Given the description of an element on the screen output the (x, y) to click on. 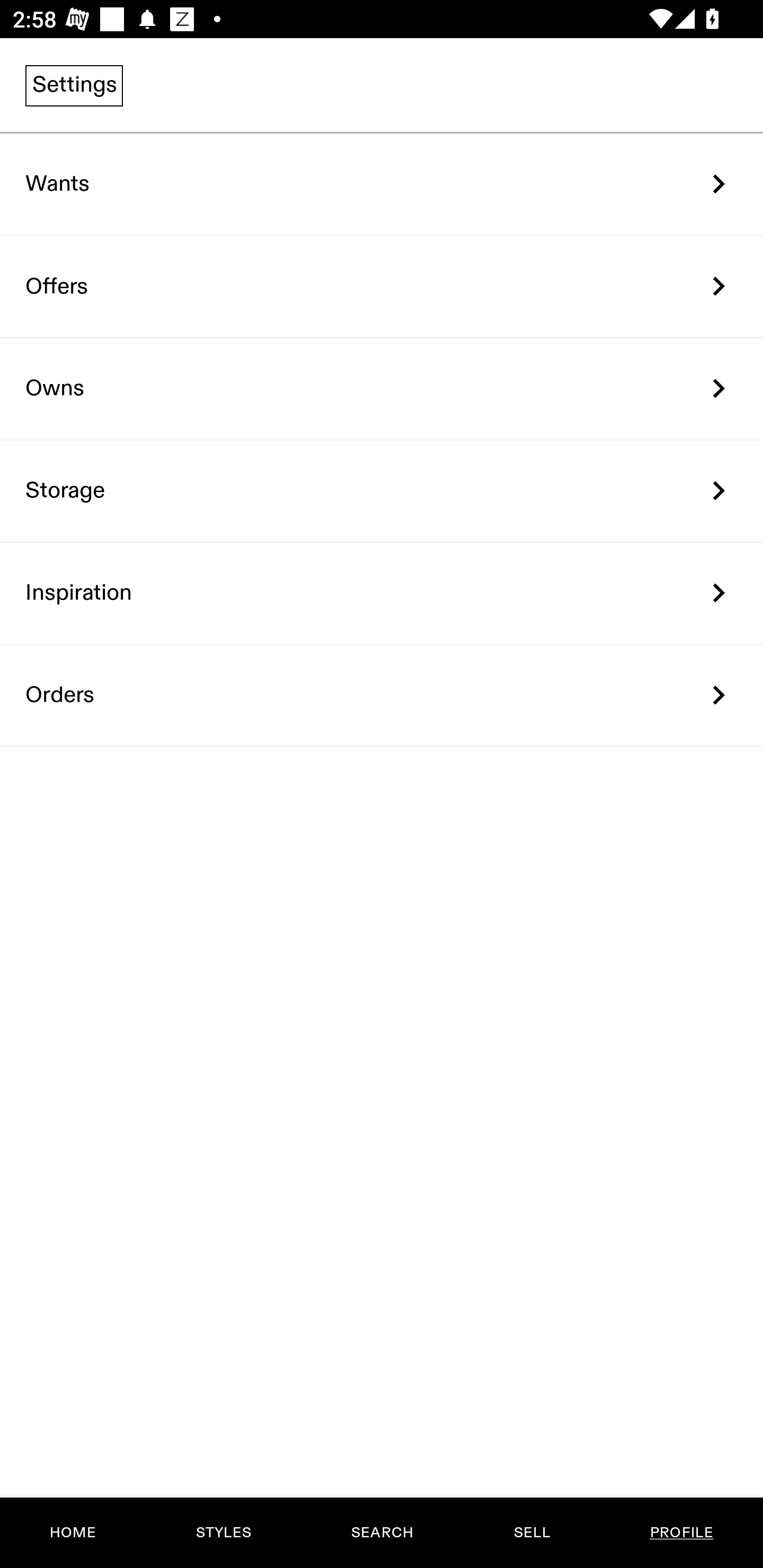
Settings (73, 85)
Wants (381, 184)
Offers (381, 286)
Owns (381, 388)
Storage (381, 491)
Inspiration (381, 593)
Orders (381, 695)
HOME (72, 1532)
STYLES (222, 1532)
SEARCH (381, 1532)
SELL (531, 1532)
PROFILE (681, 1532)
